Given the description of an element on the screen output the (x, y) to click on. 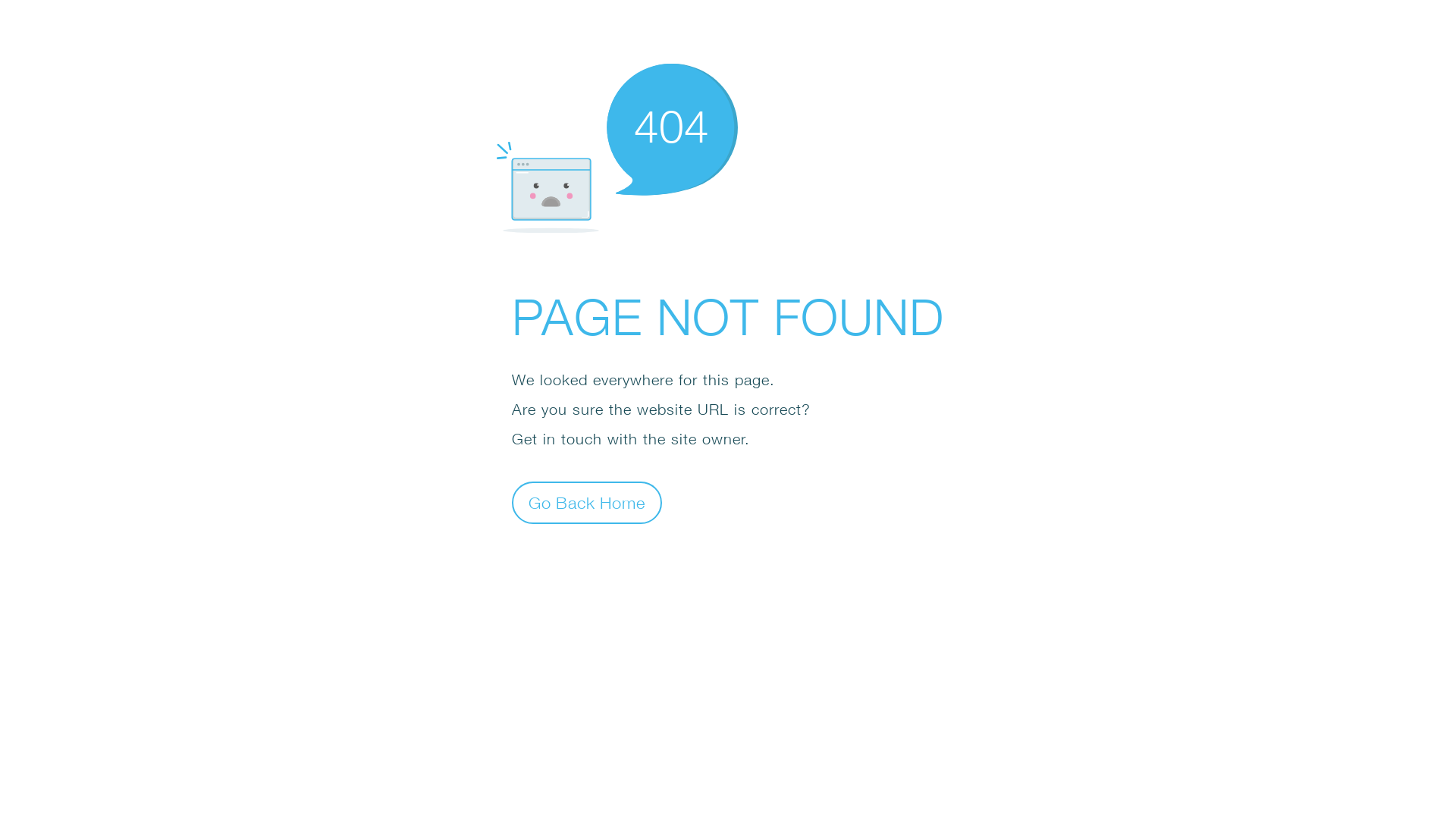
Go Back Home Element type: text (586, 502)
